Given the description of an element on the screen output the (x, y) to click on. 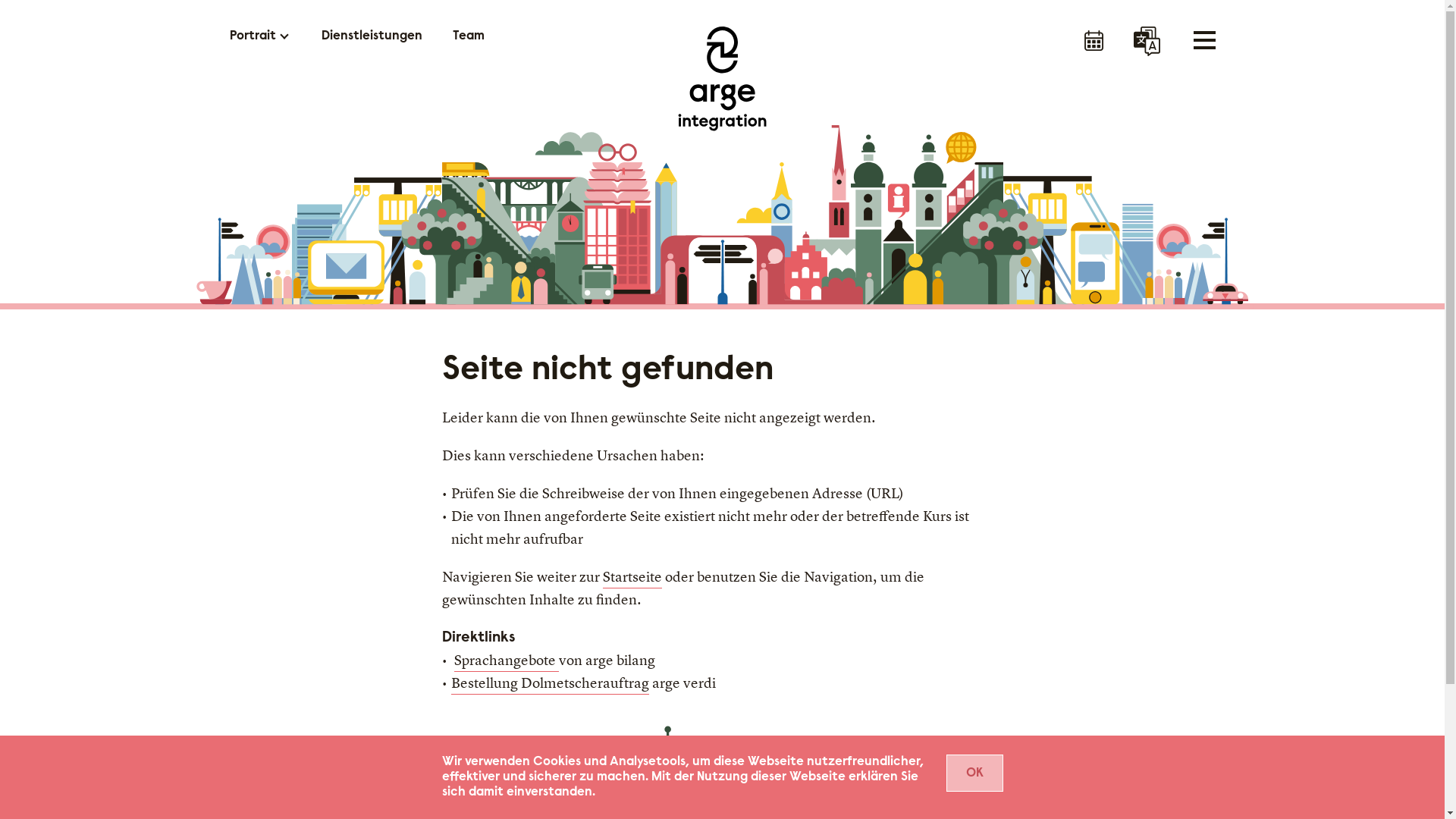
Veranstaltungskalender Element type: hover (1093, 41)
Team Element type: text (467, 36)
Dienstleistungen Element type: text (371, 36)
Portrait Element type: text (252, 36)
OK Element type: text (974, 772)
Bestellung Dolmetscherauftrag Element type: text (549, 683)
Startseite Element type: text (631, 577)
Sprachangebote Element type: text (505, 660)
